Given the description of an element on the screen output the (x, y) to click on. 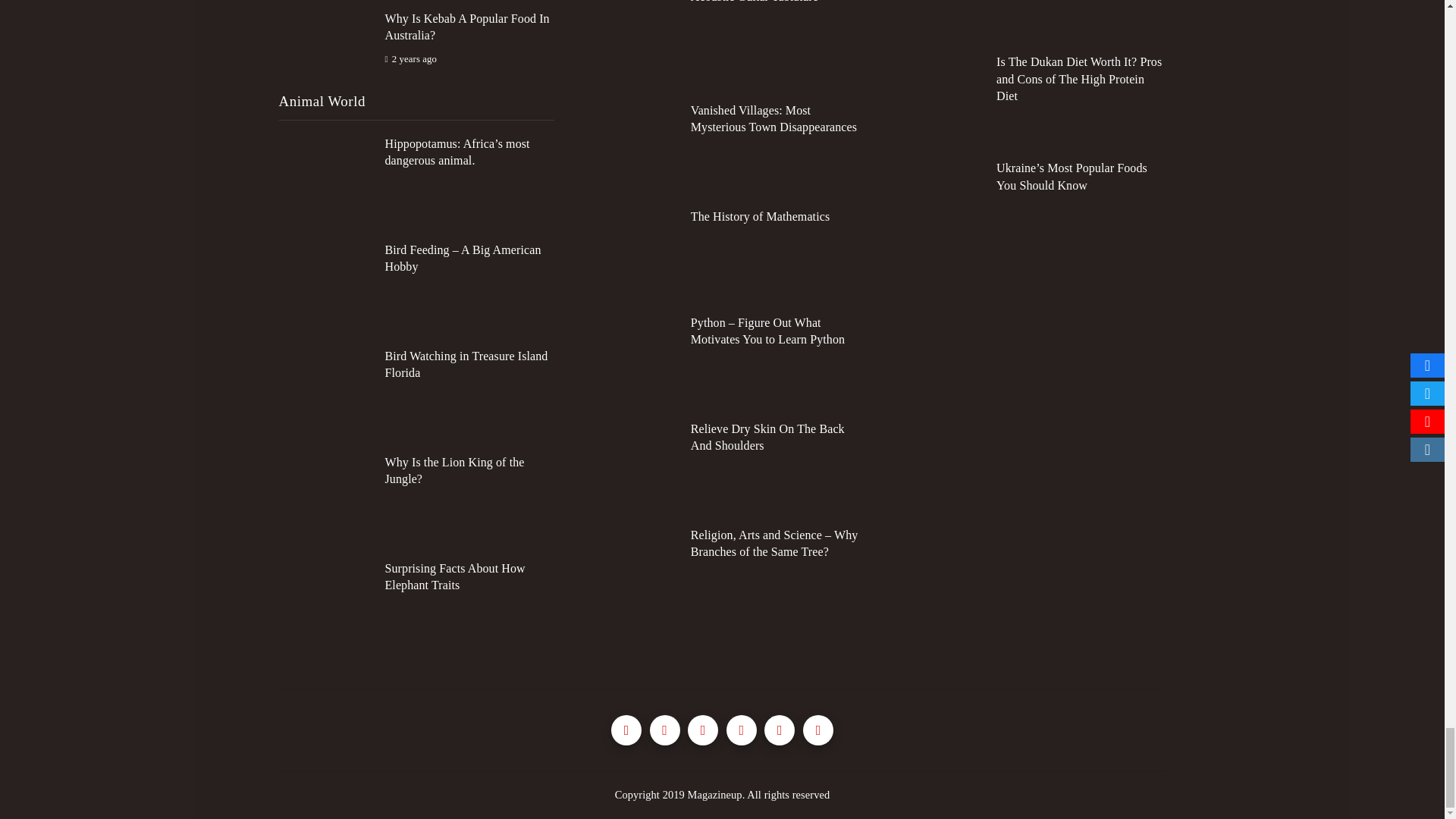
Facebook (626, 729)
Twitter (664, 729)
